Given the description of an element on the screen output the (x, y) to click on. 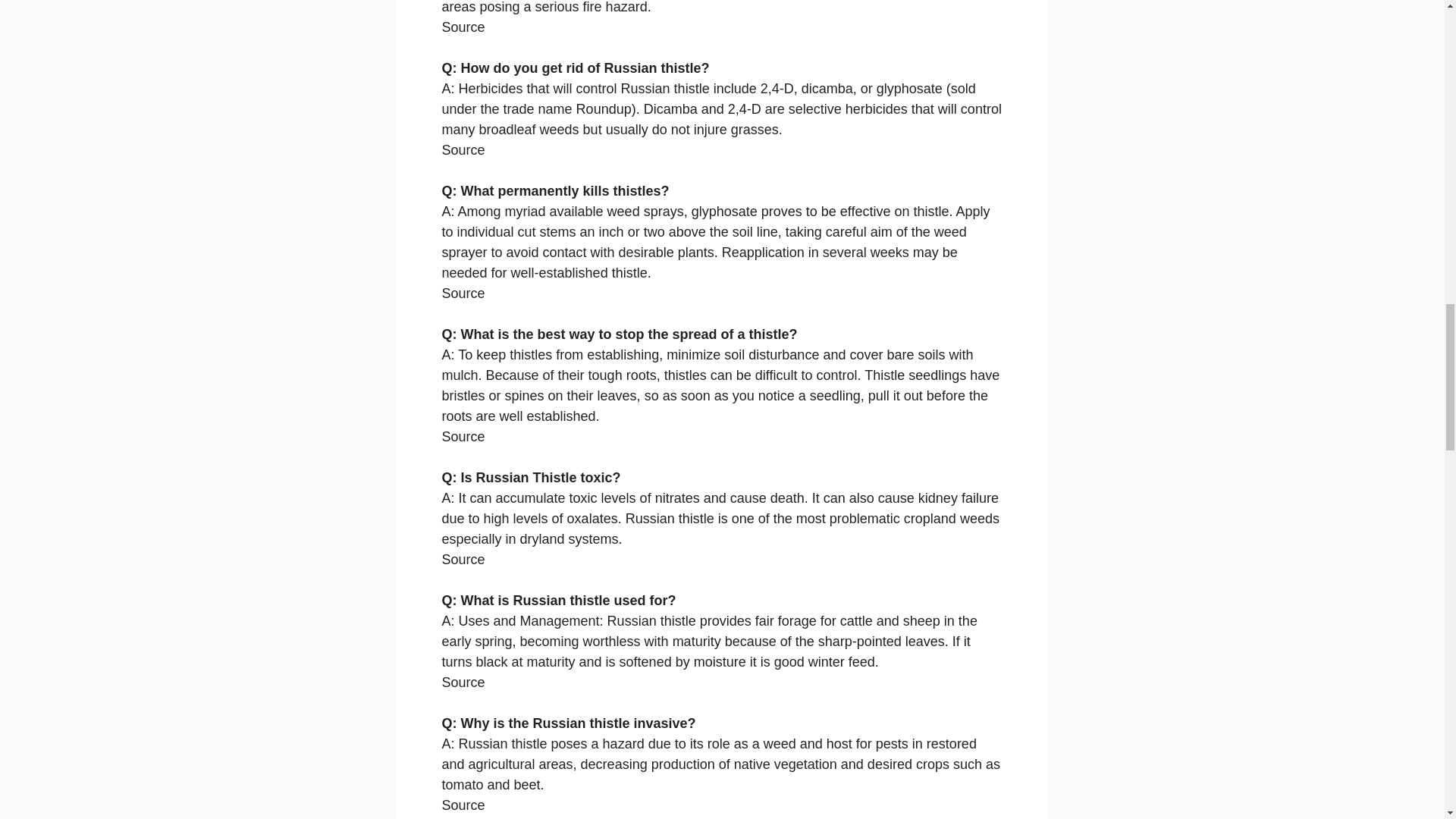
Source (462, 150)
Source (462, 27)
Source (462, 559)
Source (462, 805)
Source (462, 293)
Source (462, 436)
Source (462, 682)
